Given the description of an element on the screen output the (x, y) to click on. 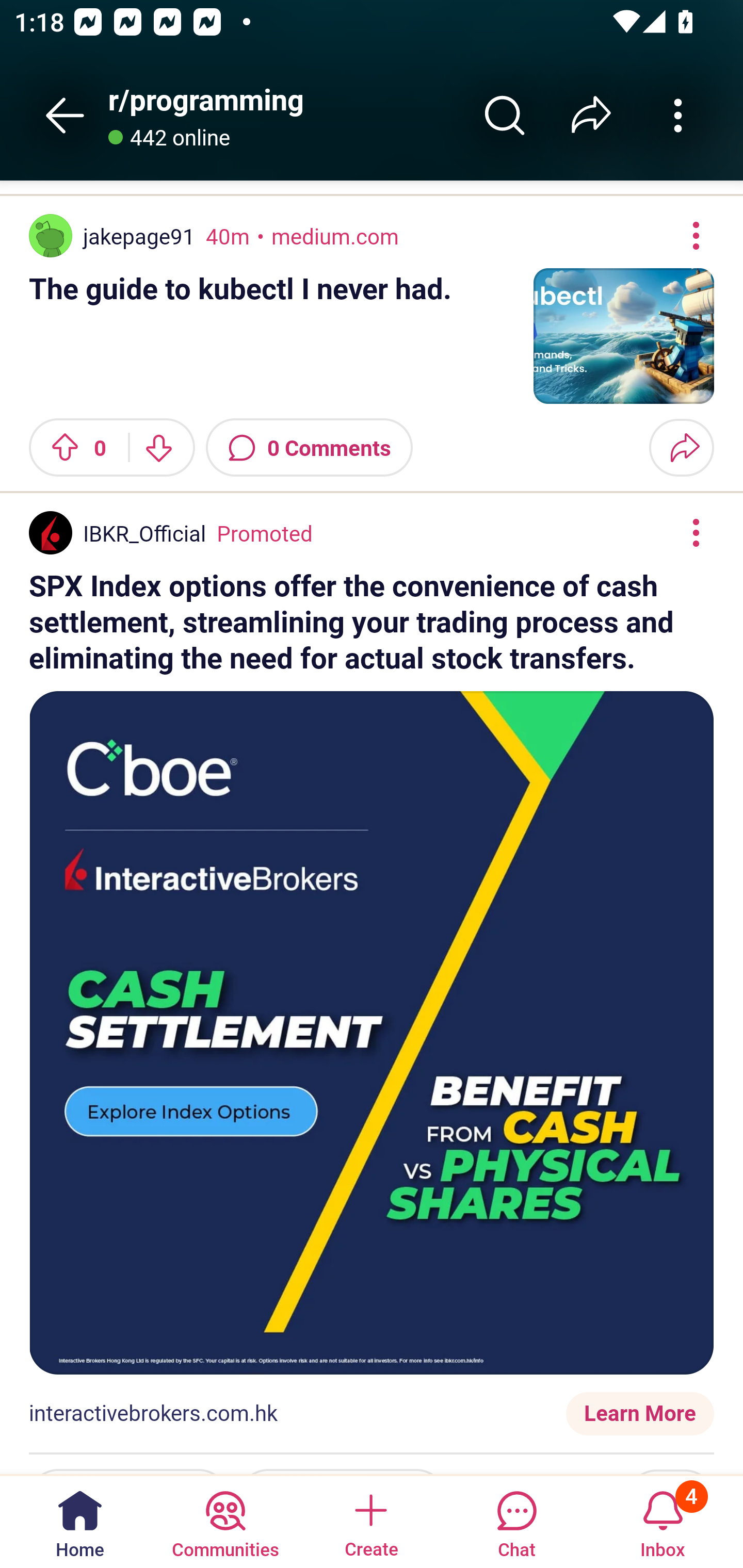
Back (64, 115)
Search r/﻿programming (504, 115)
Share r/﻿programming (591, 115)
More community actions (677, 115)
Home (80, 1520)
Communities (225, 1520)
Create a post Create (370, 1520)
Chat (516, 1520)
Inbox, has 4 notifications 4 Inbox (662, 1520)
